Given the description of an element on the screen output the (x, y) to click on. 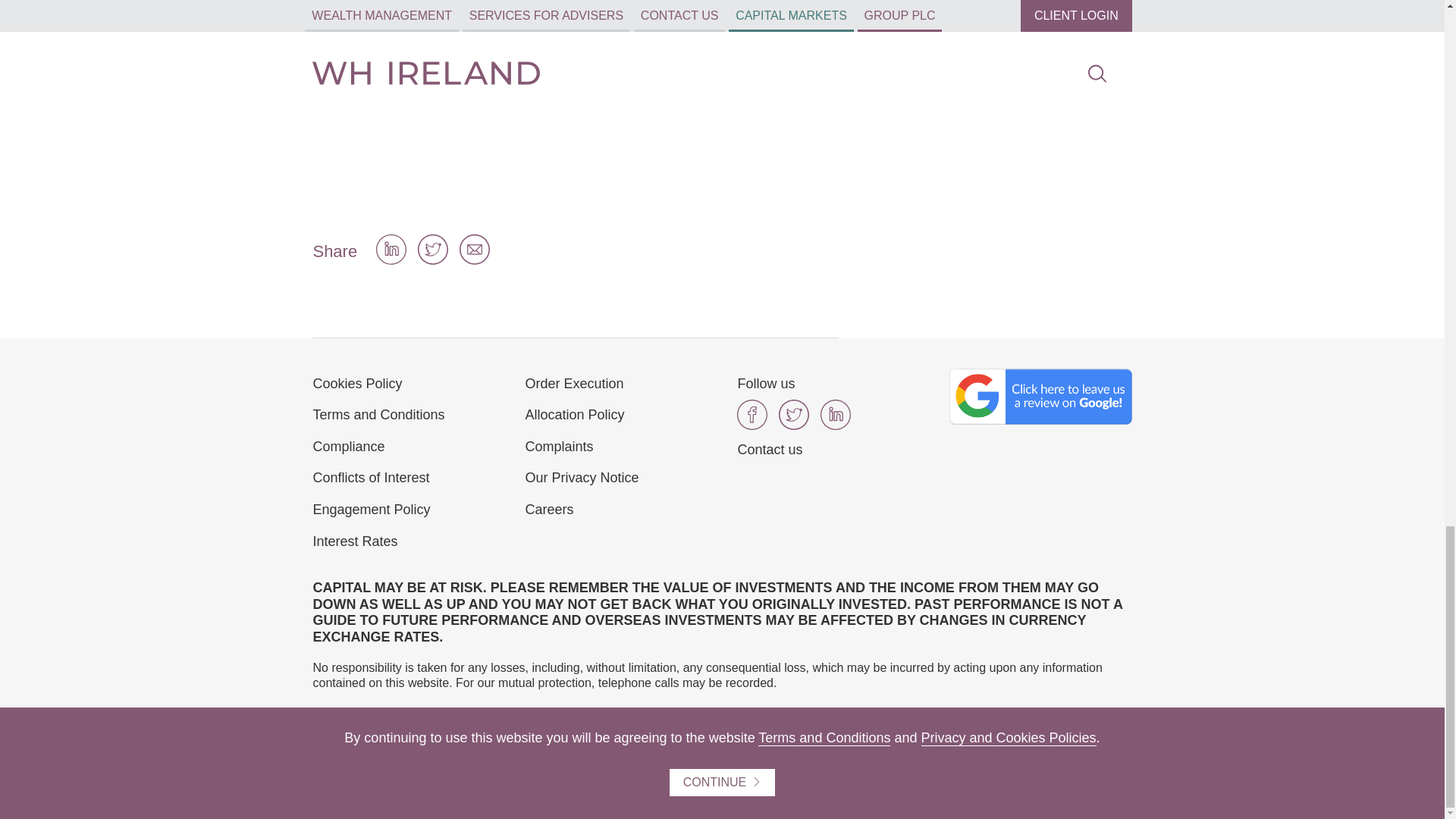
Share on LinkedIn (390, 259)
Share by email (474, 259)
Share on Twitter (432, 259)
